Given the description of an element on the screen output the (x, y) to click on. 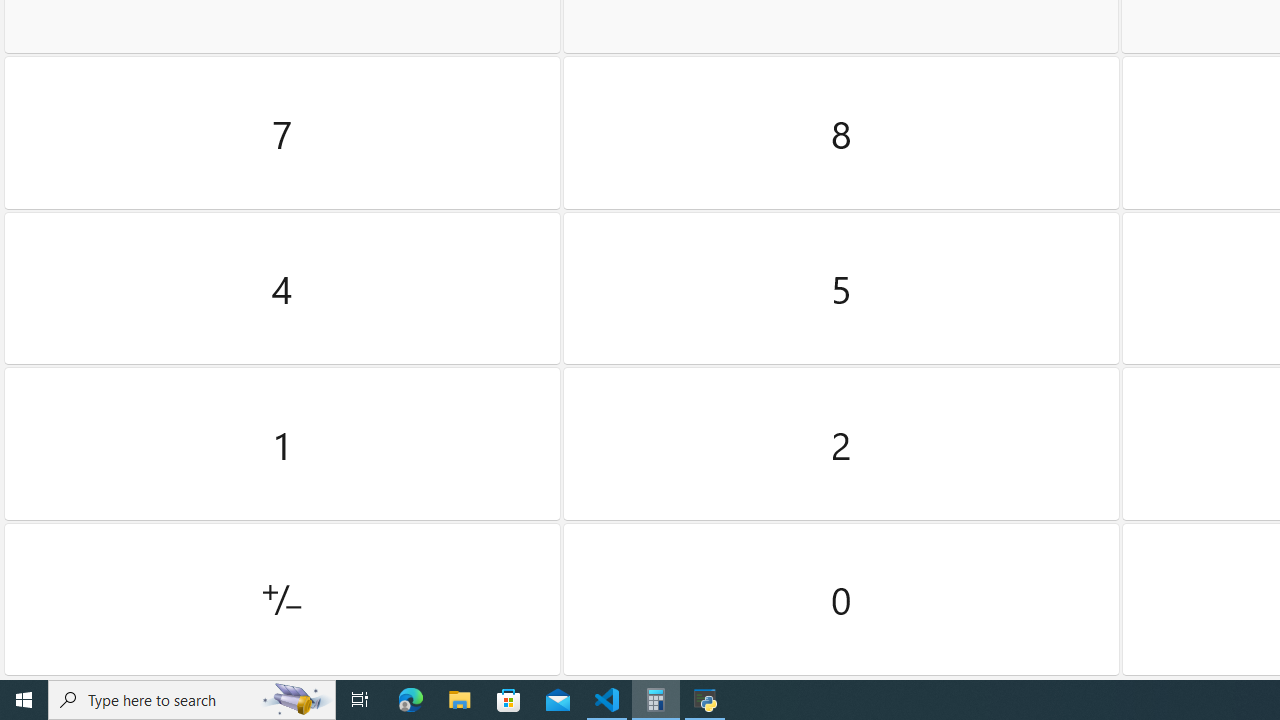
Five (841, 288)
Calculator - 1 running window (656, 699)
